Given the description of an element on the screen output the (x, y) to click on. 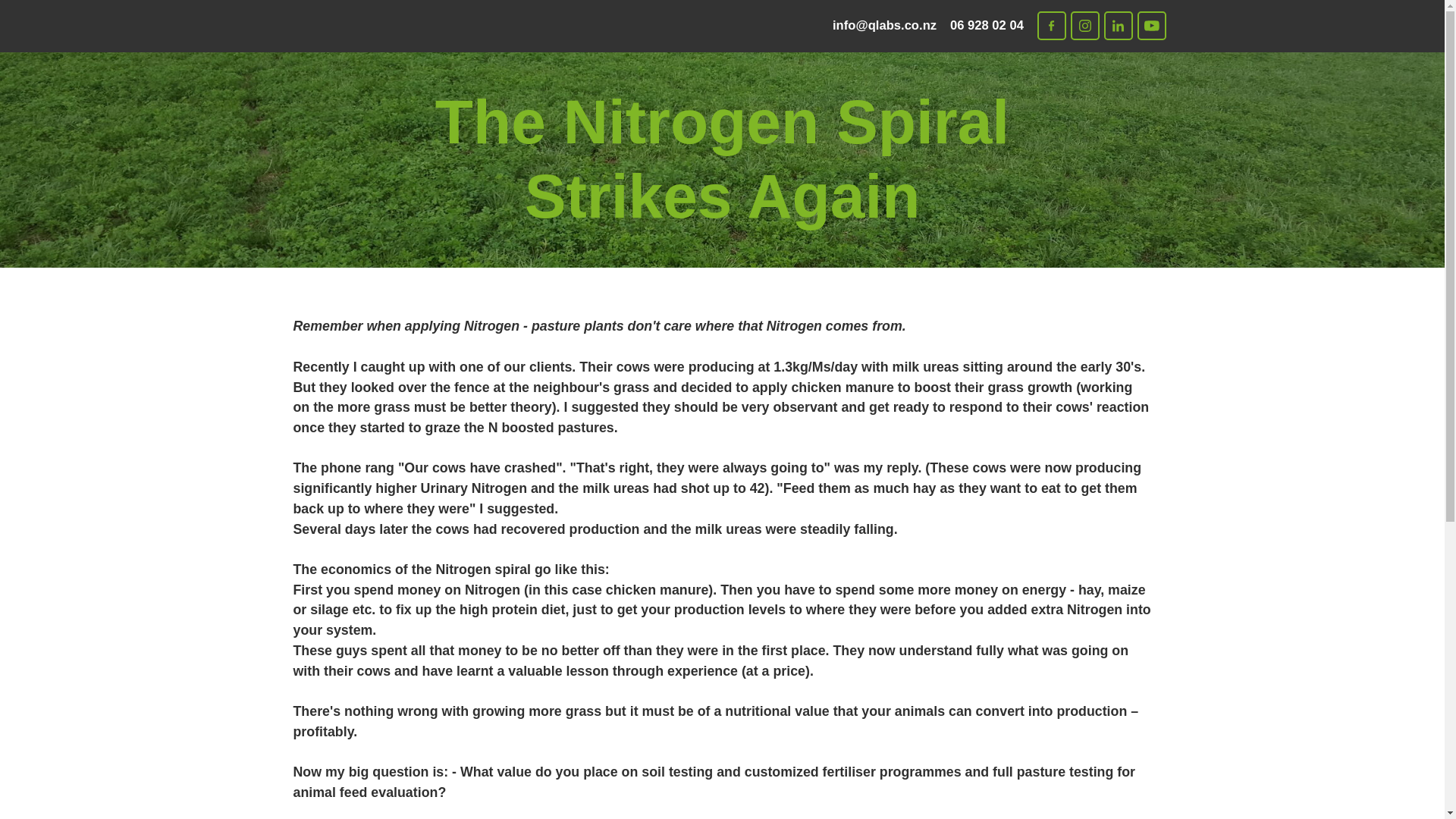
A link to this website's Instagram. (1084, 25)
A link to this website's Facebook. (1050, 25)
A link to this website's Youtube. (1151, 25)
A link to this website's LinkedIn. (1117, 25)
